Given the description of an element on the screen output the (x, y) to click on. 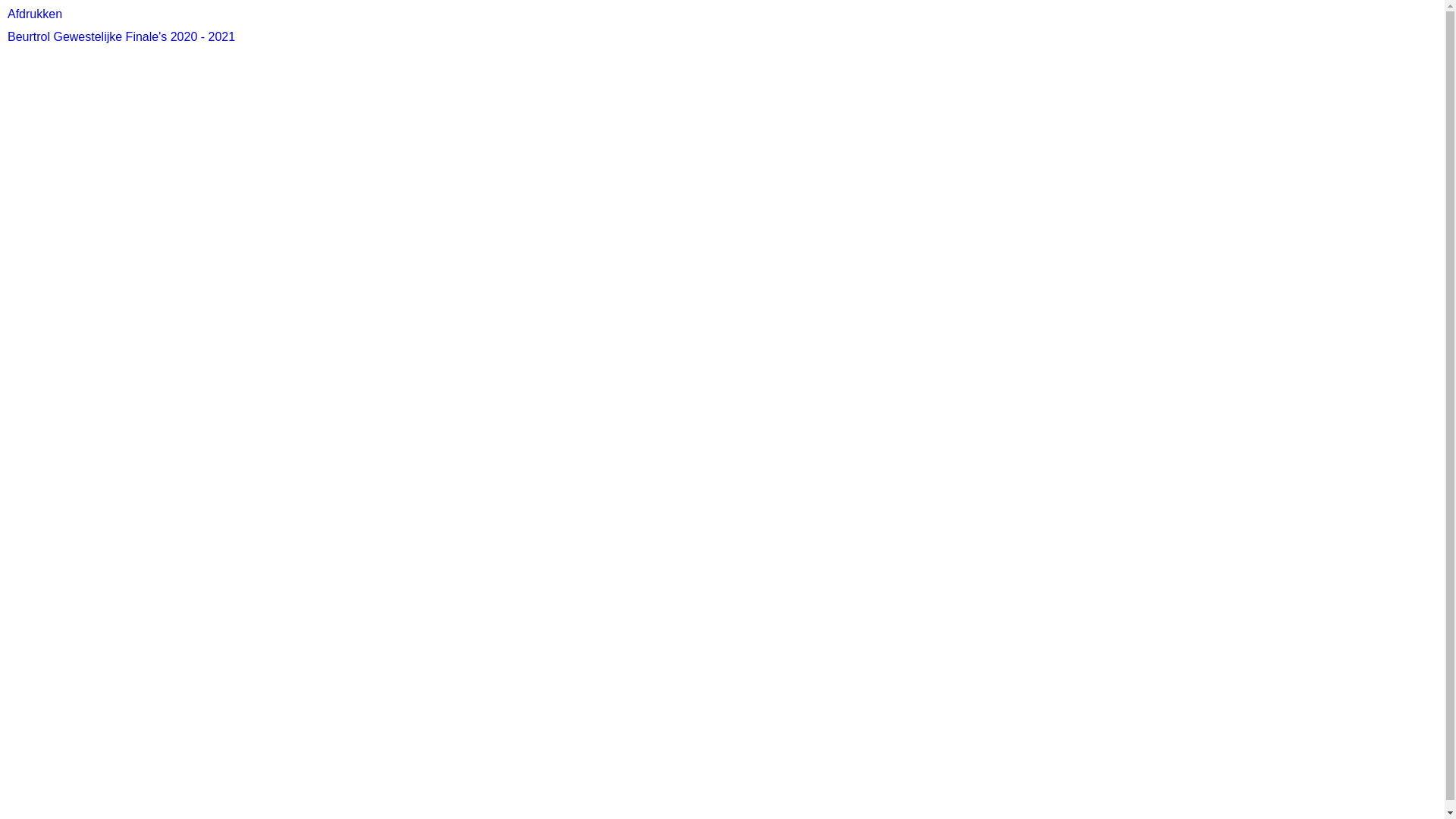
Beurtrol Gewestelijke Finale's 2020 - 2021 Element type: text (121, 36)
Afdrukken Element type: text (34, 13)
